Given the description of an element on the screen output the (x, y) to click on. 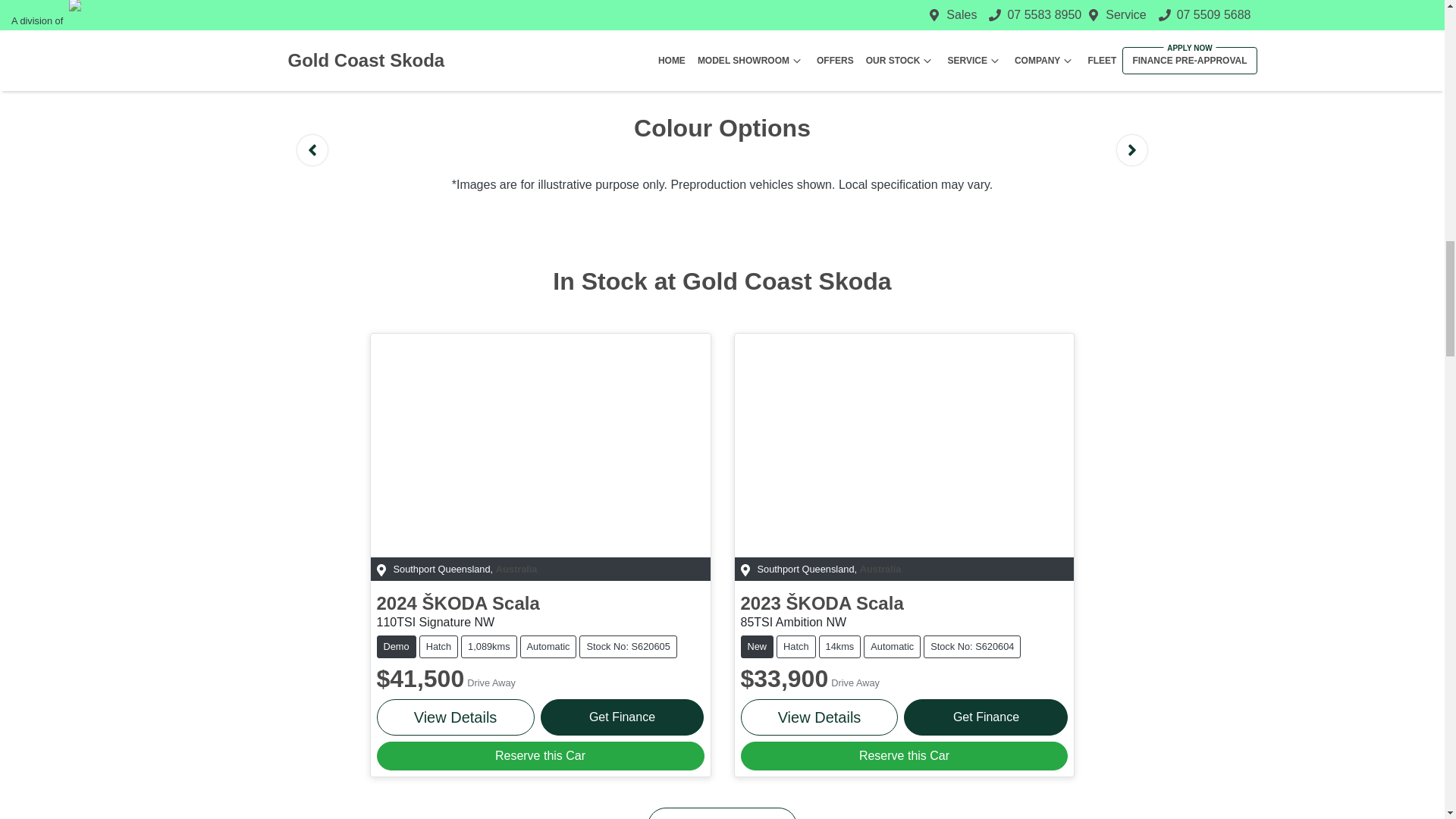
Get Finance (985, 717)
Reserve this Car (903, 756)
Reserve this Car (540, 756)
Get Finance (621, 717)
View All Scalas (721, 813)
View Details (818, 717)
View Details (455, 717)
